Given the description of an element on the screen output the (x, y) to click on. 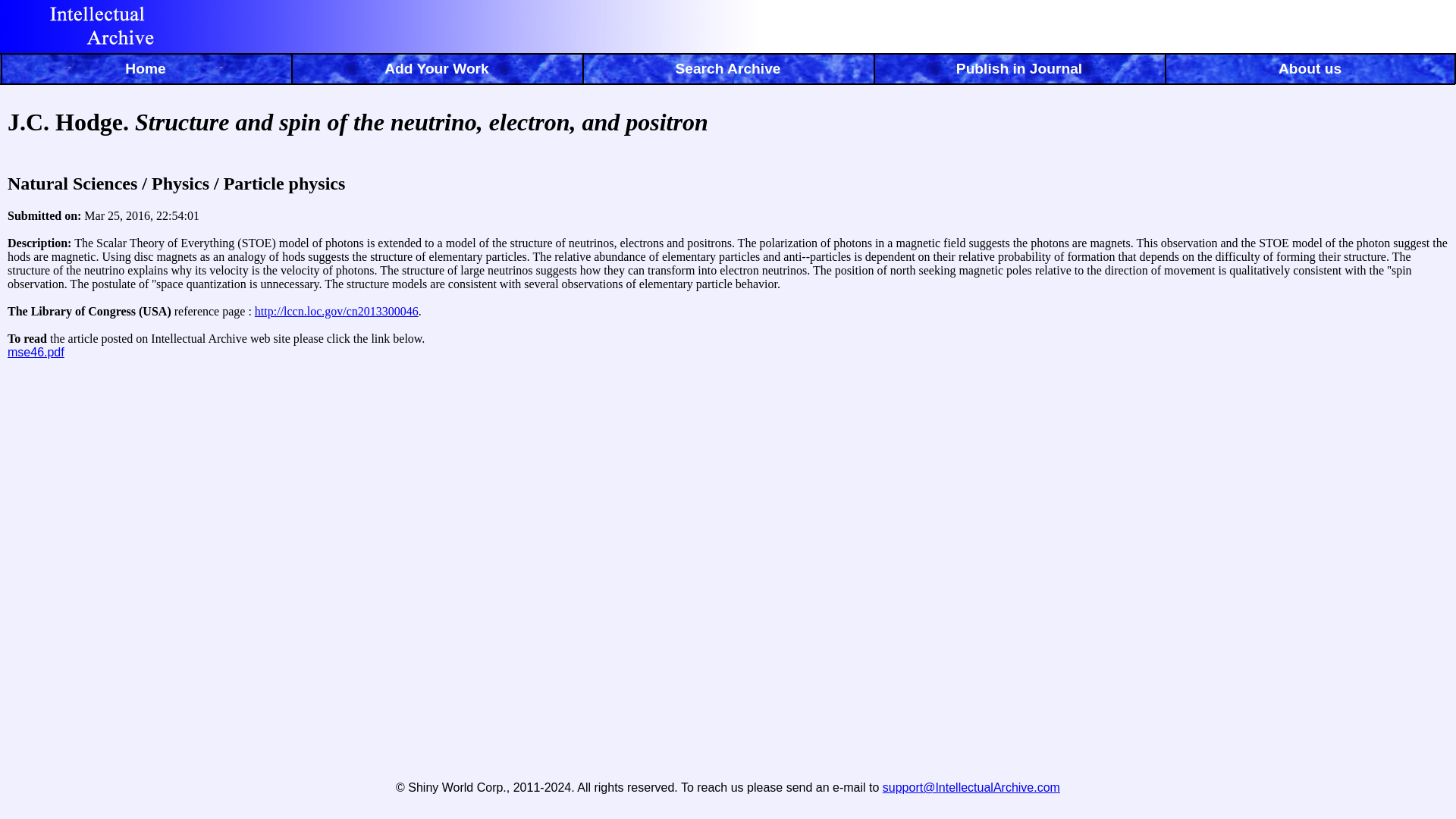
Home (145, 71)
Publish in Journal (1018, 71)
Add Your Work (436, 71)
mse46.pdf (35, 351)
About us (1309, 71)
Search Archive (727, 71)
